Given the description of an element on the screen output the (x, y) to click on. 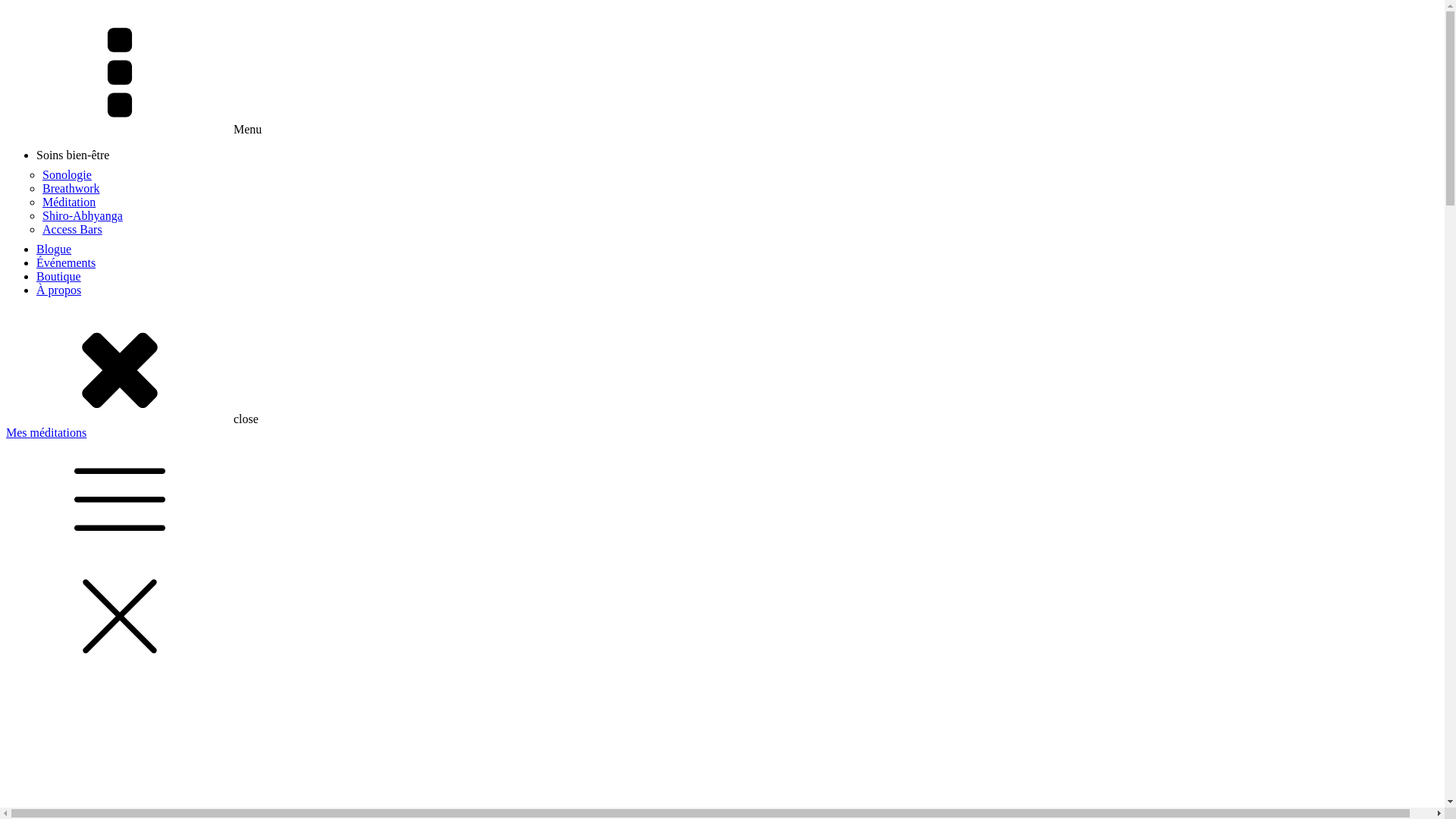
Breathwork Element type: text (71, 188)
Shiro-Abhyanga Element type: text (82, 215)
Sonologie Element type: text (66, 174)
Blogue Element type: text (53, 248)
Boutique Element type: text (58, 275)
Access Bars Element type: text (72, 228)
